Given the description of an element on the screen output the (x, y) to click on. 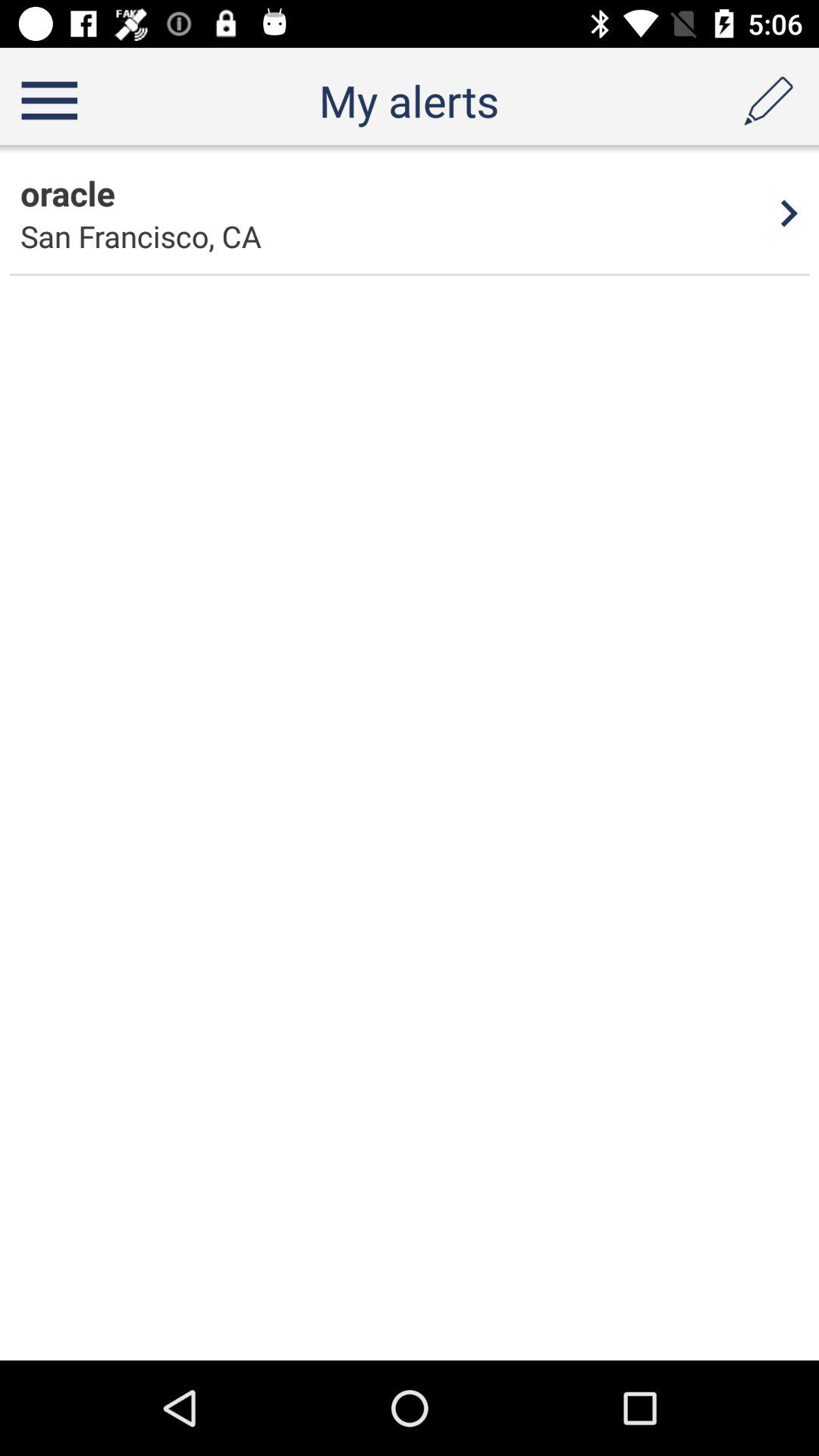
launch san francisco, ca app (140, 236)
